Given the description of an element on the screen output the (x, y) to click on. 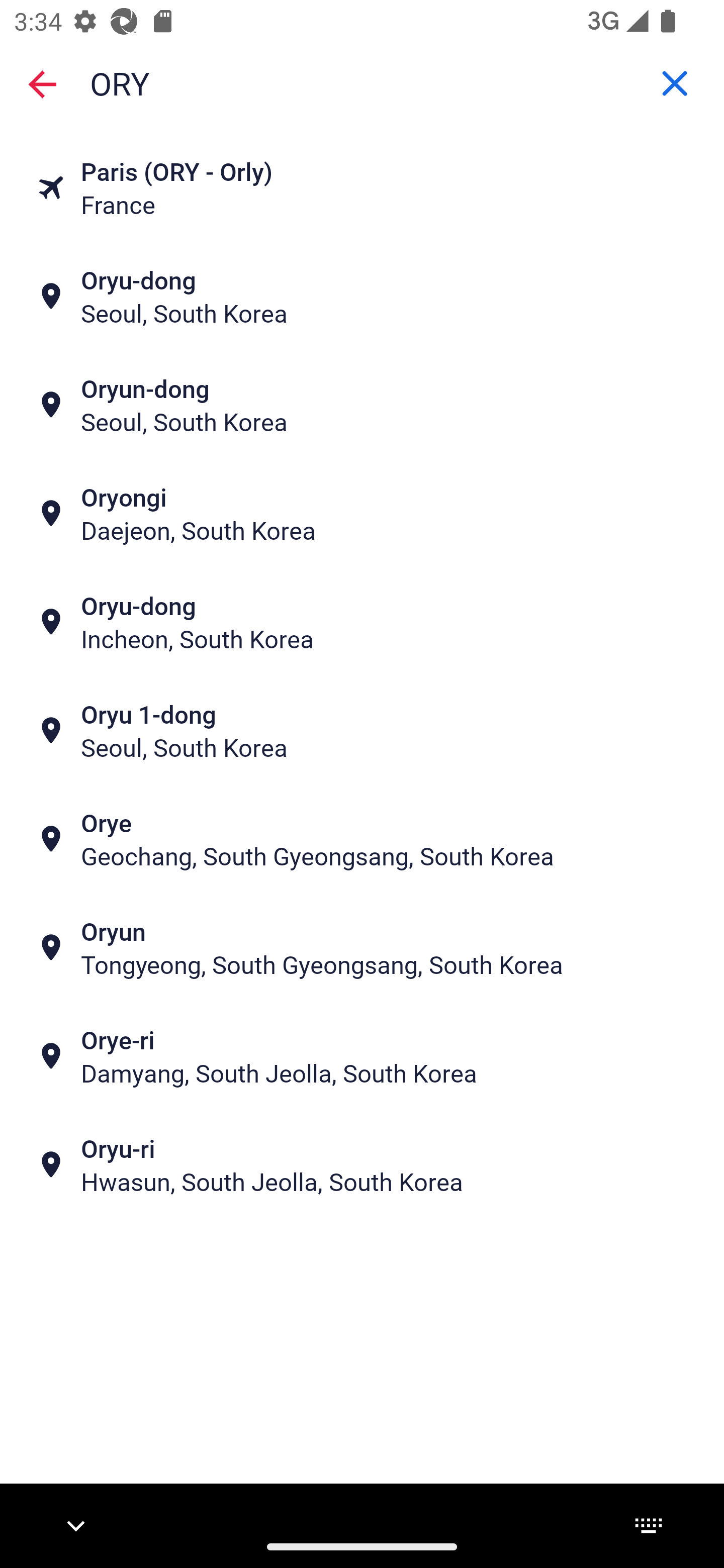
Clear Drop-off (674, 82)
Drop-off, ORY (361, 82)
Close search screen (41, 83)
